Given the description of an element on the screen output the (x, y) to click on. 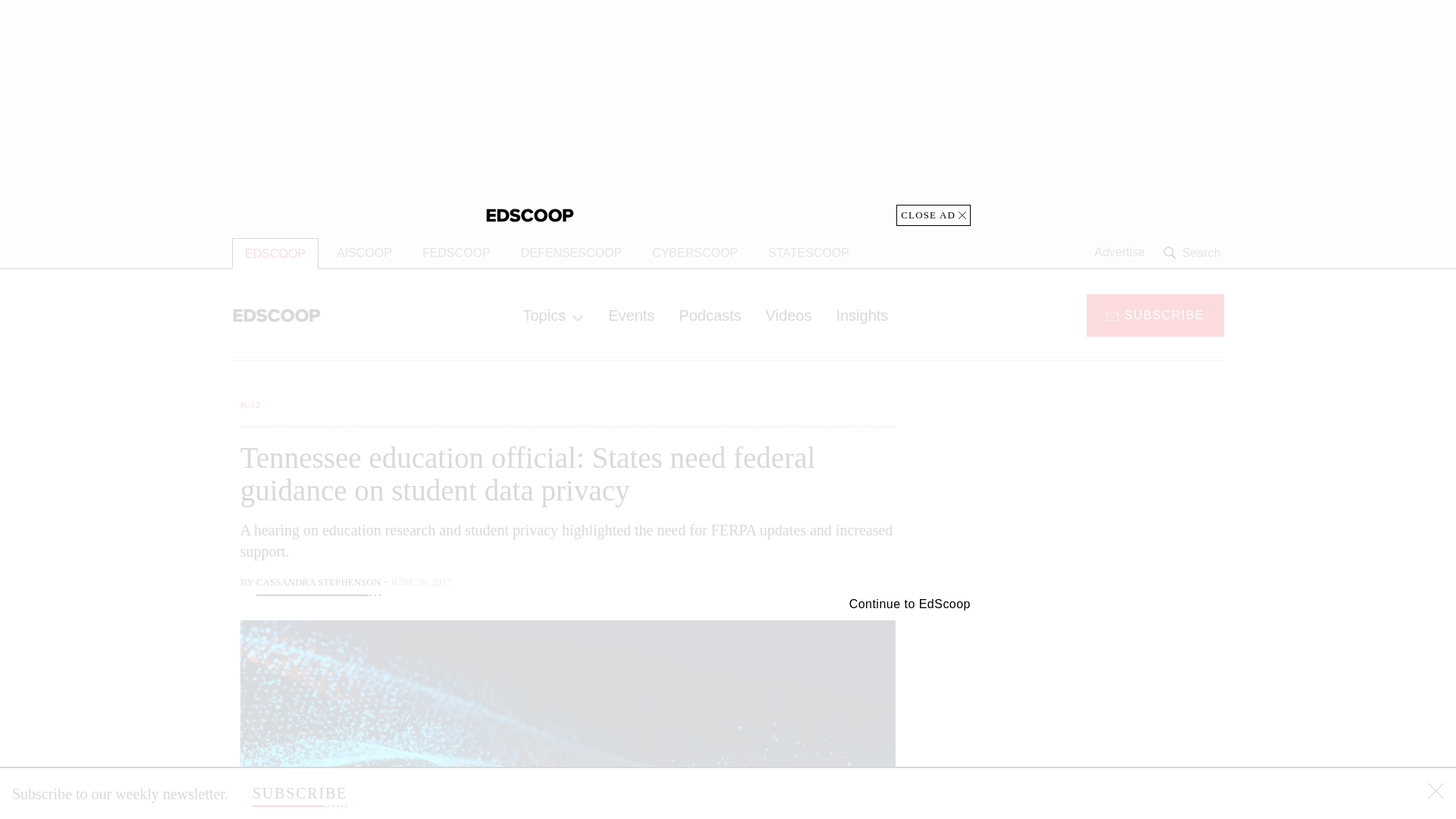
Cassandra Stephenson (318, 583)
Events (630, 315)
Search (1193, 252)
Topics (553, 315)
EDSCOOP (274, 253)
Advertise (1119, 252)
AISCOOP (364, 253)
FEDSCOOP (456, 253)
3rd party ad content (1101, 714)
SUBSCRIBE (1155, 314)
STATESCOOP (808, 253)
Insights (861, 315)
CYBERSCOOP (694, 253)
Podcasts (709, 315)
